Given the description of an element on the screen output the (x, y) to click on. 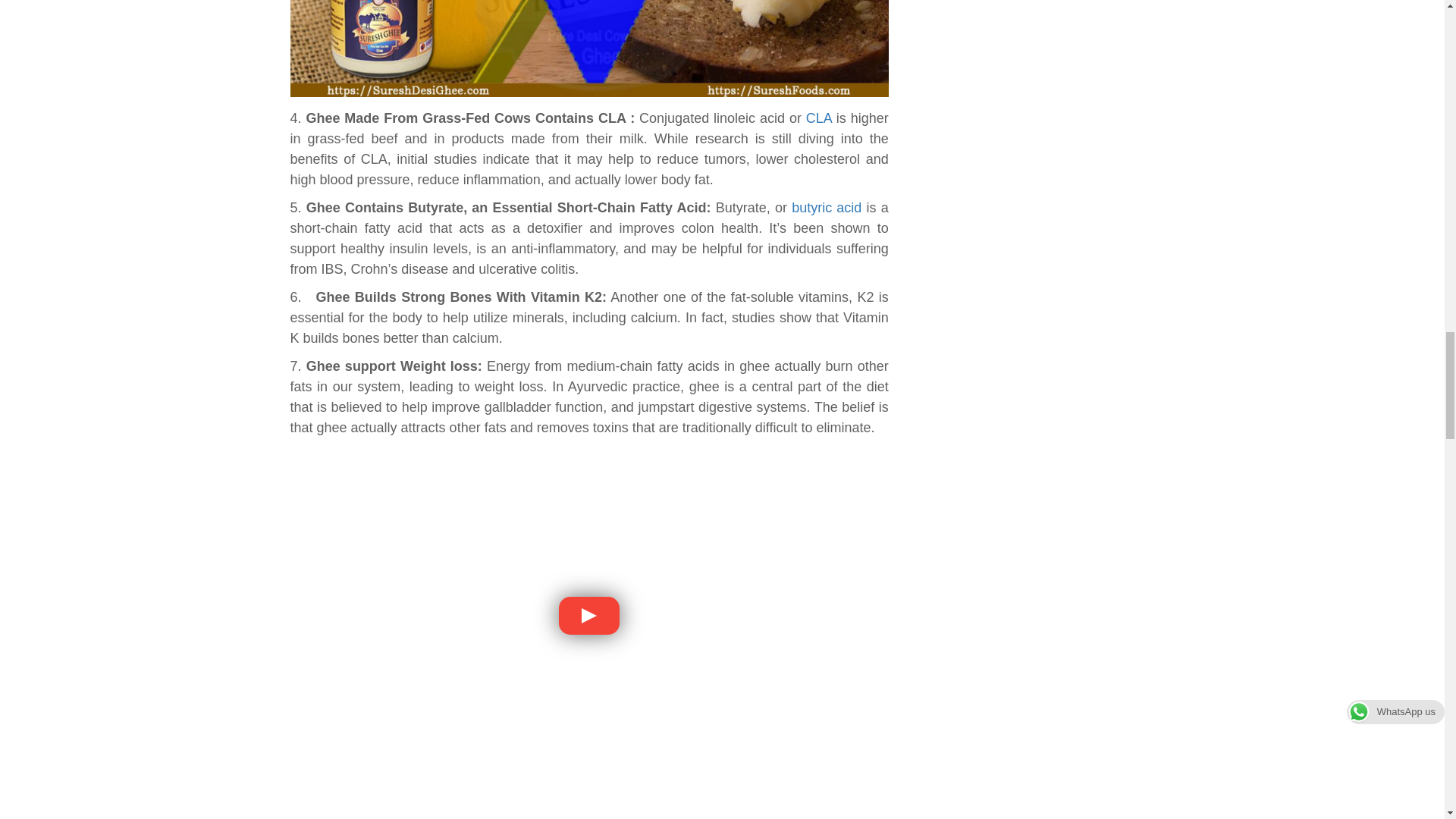
CLA (818, 118)
butyric acid (826, 207)
